Given the description of an element on the screen output the (x, y) to click on. 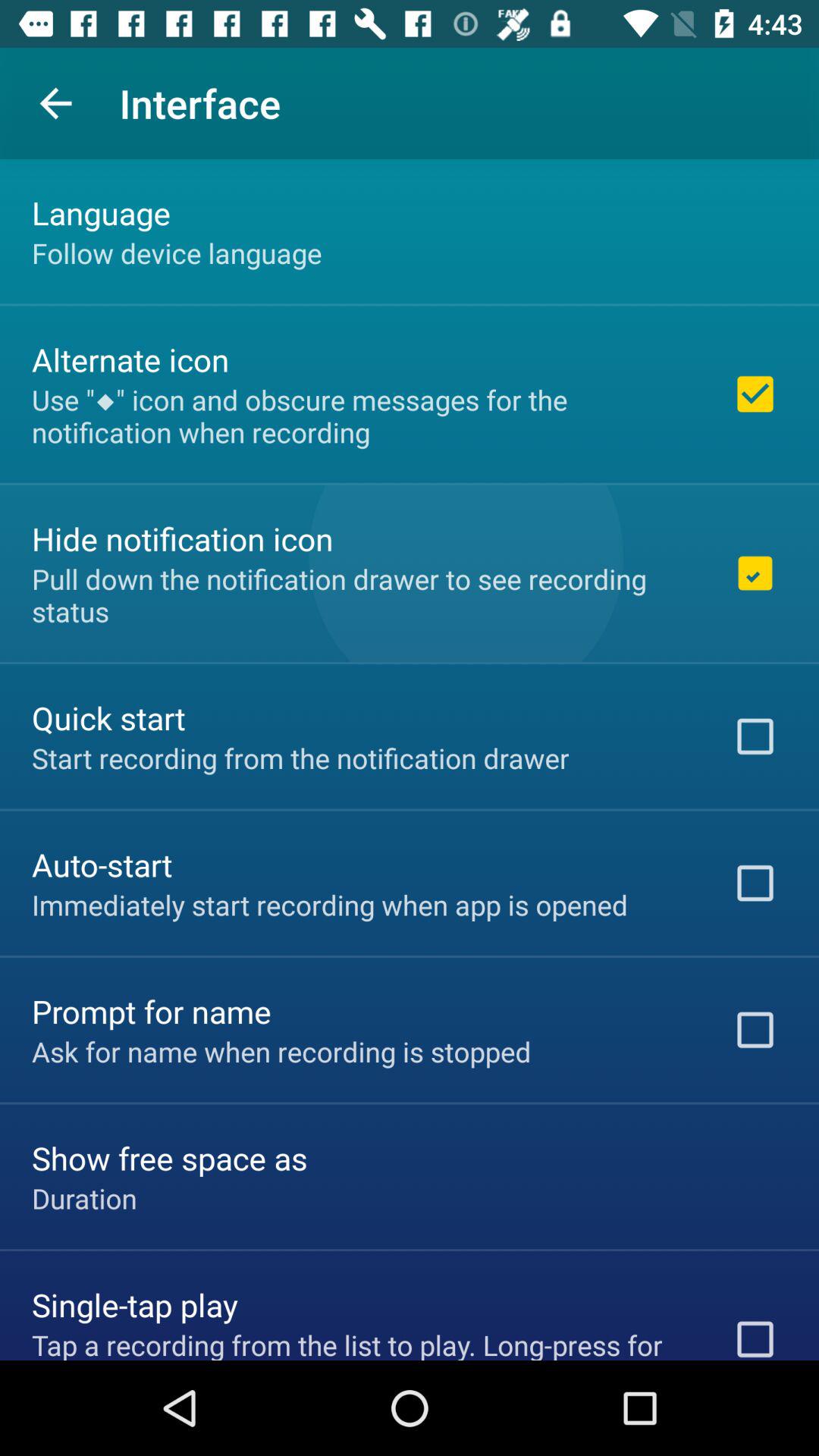
tap the icon above the language item (55, 103)
